Given the description of an element on the screen output the (x, y) to click on. 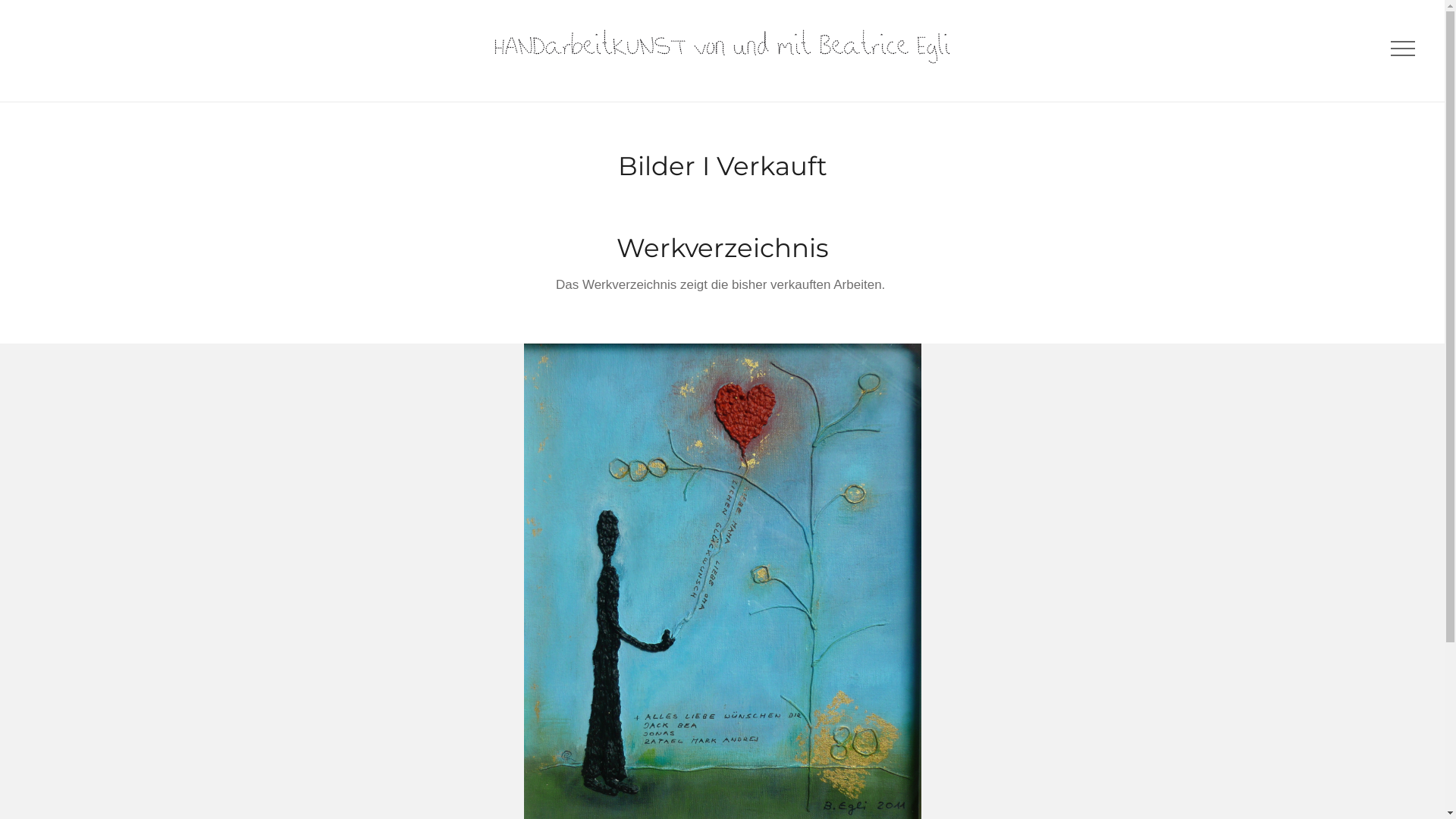
MENU Element type: text (1400, 49)
Beatrice Egli Element type: hover (722, 46)
